Given the description of an element on the screen output the (x, y) to click on. 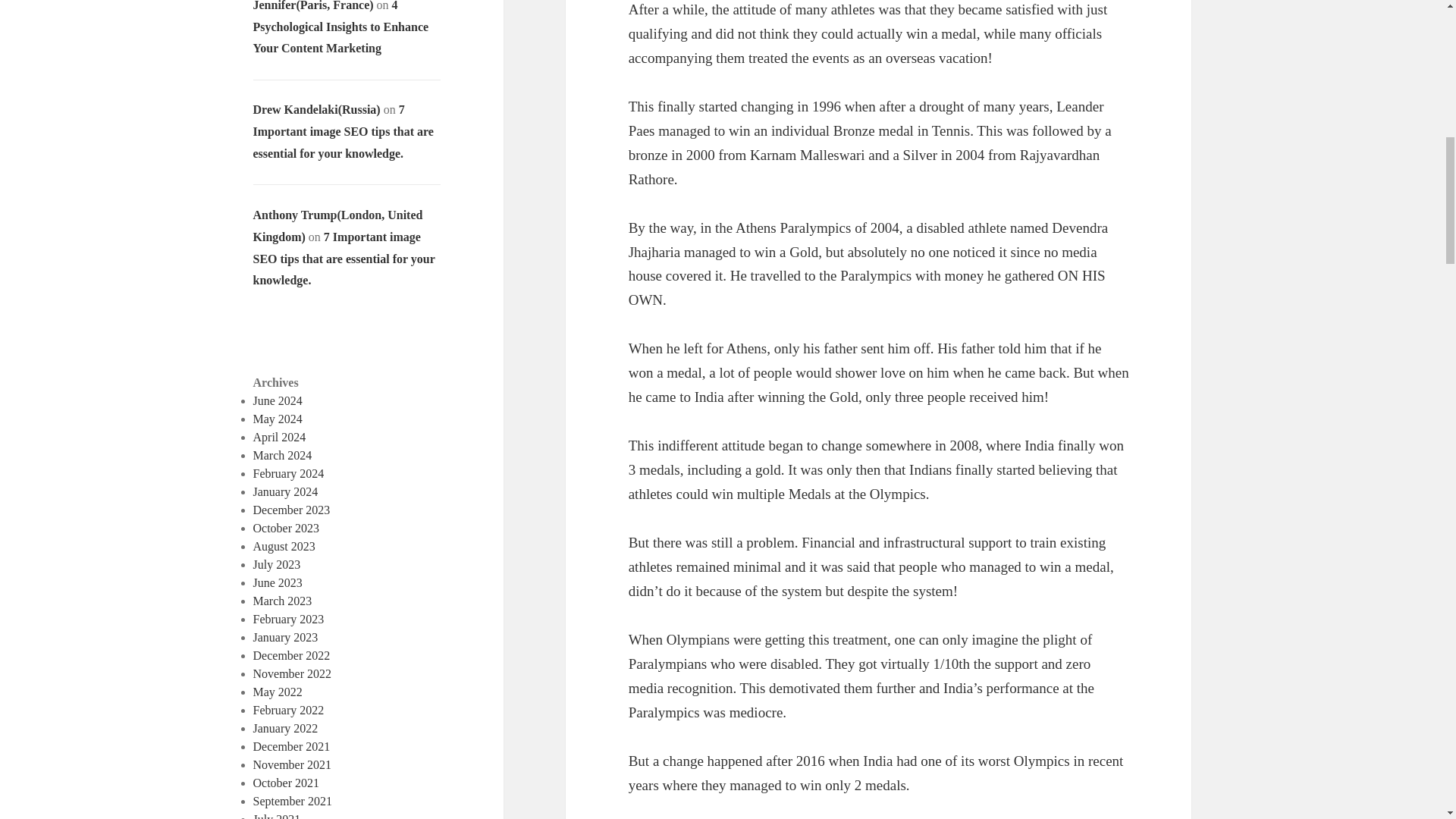
March 2023 (283, 600)
November 2021 (292, 764)
January 2022 (285, 727)
December 2021 (291, 746)
November 2022 (292, 673)
December 2023 (291, 509)
February 2023 (288, 618)
October 2023 (286, 527)
February 2022 (288, 709)
December 2022 (291, 655)
June 2024 (277, 400)
August 2023 (284, 545)
May 2024 (277, 418)
